Given the description of an element on the screen output the (x, y) to click on. 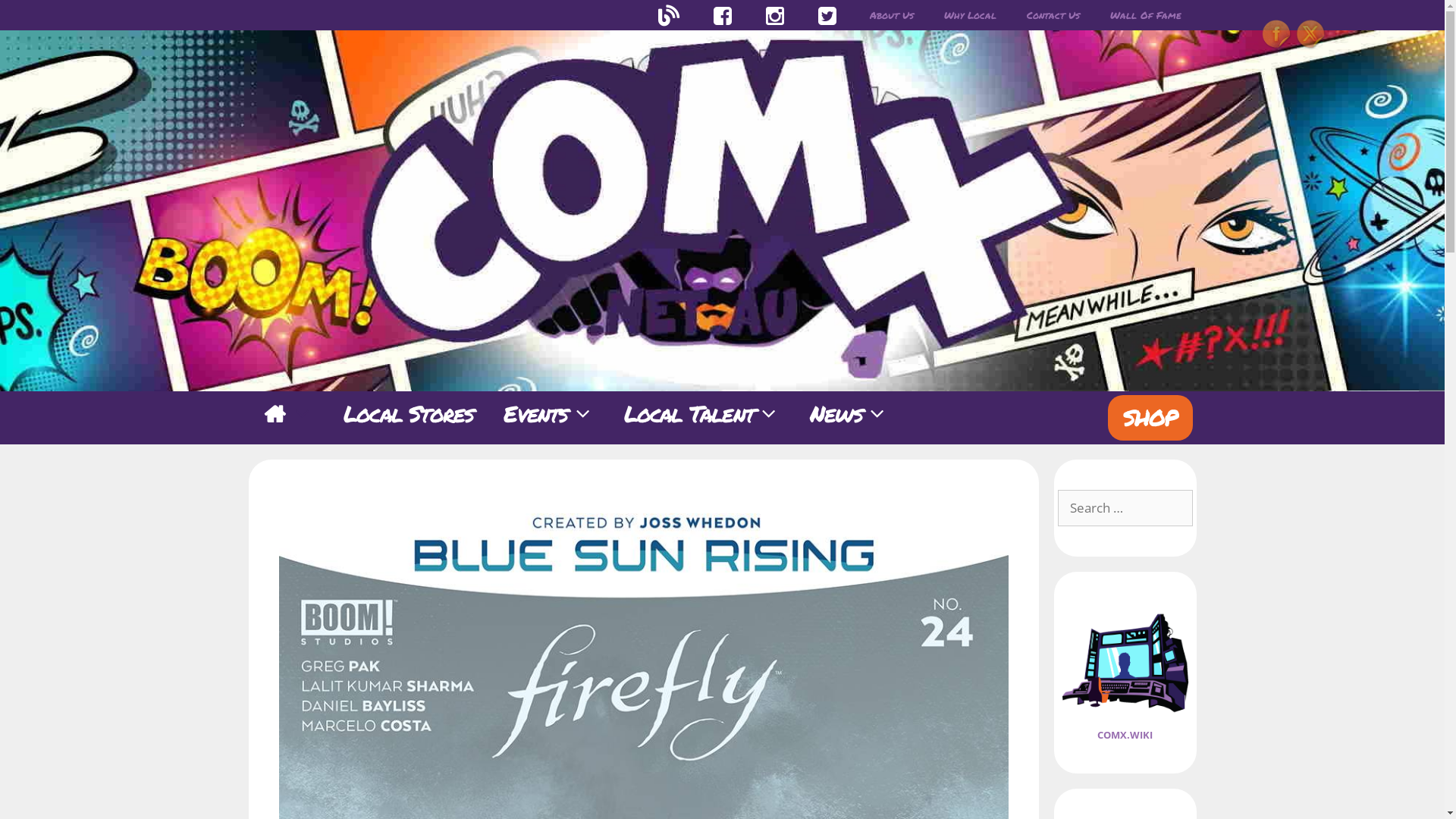
Search Element type: text (36, 18)
Local Stores Element type: text (408, 413)
Search for: Element type: hover (1124, 507)
News Element type: text (848, 413)
. Element type: text (828, 15)
Events Element type: text (548, 413)
Why Local Element type: text (969, 15)
Facebook Element type: hover (1276, 34)
Local Talent Element type: text (701, 413)
. Element type: text (775, 15)
SHOP Element type: text (1149, 417)
COMX.WIKI Element type: text (1124, 734)
About Us Element type: text (890, 15)
. Element type: text (668, 15)
. Element type: text (723, 15)
Twitter Element type: hover (1310, 34)
Wall Of Fame Element type: text (1145, 15)
Contact Us Element type: text (1053, 15)
. Element type: text (288, 413)
